Given the description of an element on the screen output the (x, y) to click on. 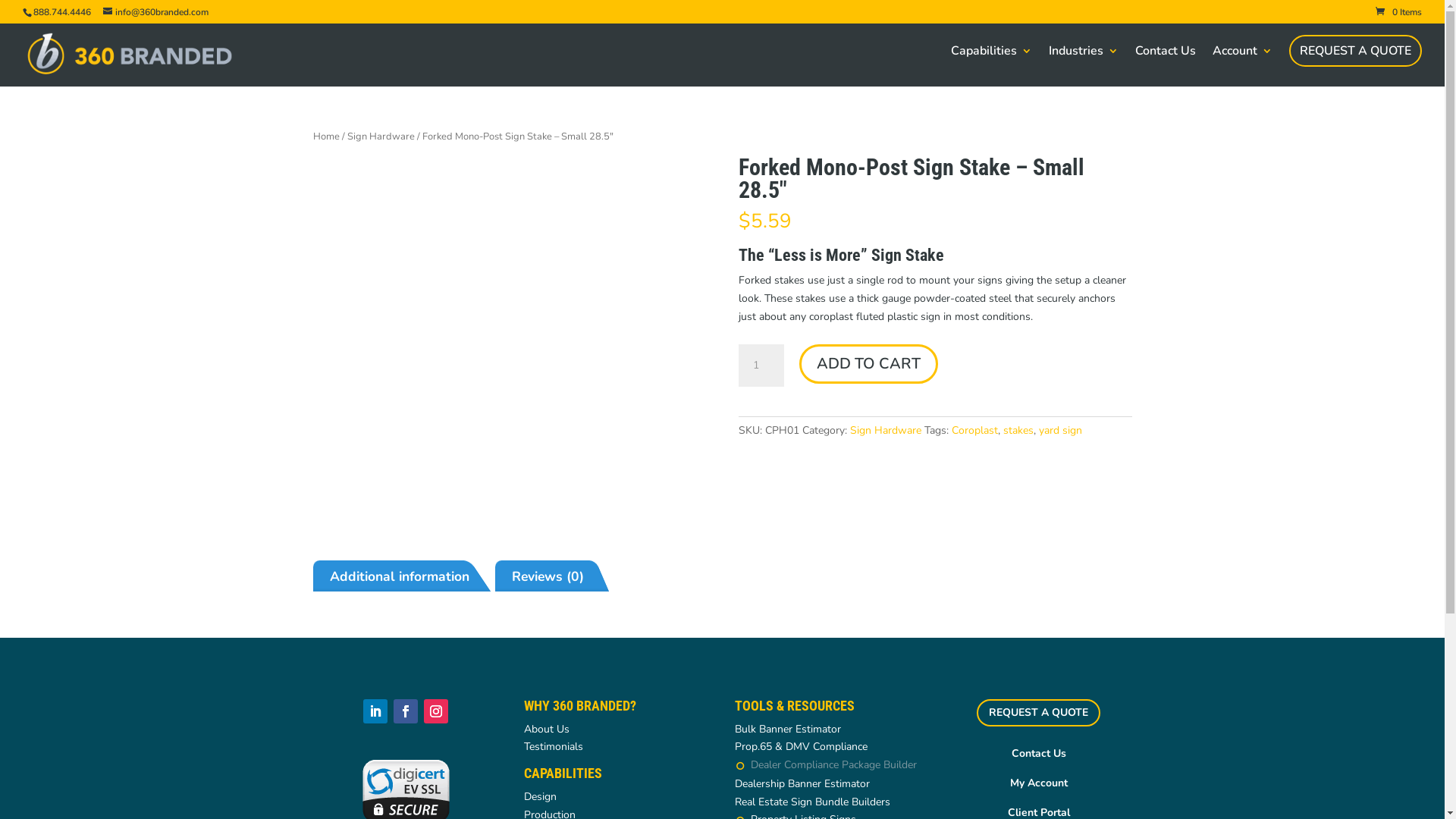
Capabilities Element type: text (991, 65)
Prop.65 & DMV Compliance Element type: text (800, 746)
Contact Us Element type: text (1038, 753)
REQUEST A QUOTE Element type: text (1038, 712)
Follow on LinkedIn Element type: hover (375, 711)
Contact Us Element type: text (1165, 65)
Industries Element type: text (1083, 65)
Coroplast Element type: text (974, 430)
Sign Hardware Element type: text (885, 430)
Qty Element type: hover (761, 365)
Additional information Element type: text (406, 576)
Reviews (0) Element type: text (555, 576)
Bulk Banner Estimator Element type: text (787, 728)
Design Element type: text (540, 796)
Follow on Facebook Element type: hover (405, 711)
Testimonials Element type: text (553, 746)
My Account Element type: text (1038, 782)
stakes Element type: text (1018, 430)
Dealership Banner Estimator Element type: text (801, 783)
Sign Hardware Element type: text (380, 136)
info@360branded.com Element type: text (155, 12)
Home Element type: text (325, 136)
Follow on Instagram Element type: hover (435, 711)
About Us Element type: text (546, 728)
ADD TO CART Element type: text (868, 363)
Account Element type: text (1242, 65)
REQUEST A QUOTE Element type: text (1355, 50)
0 Items Element type: text (1398, 12)
yard sign Element type: text (1060, 430)
